Given the description of an element on the screen output the (x, y) to click on. 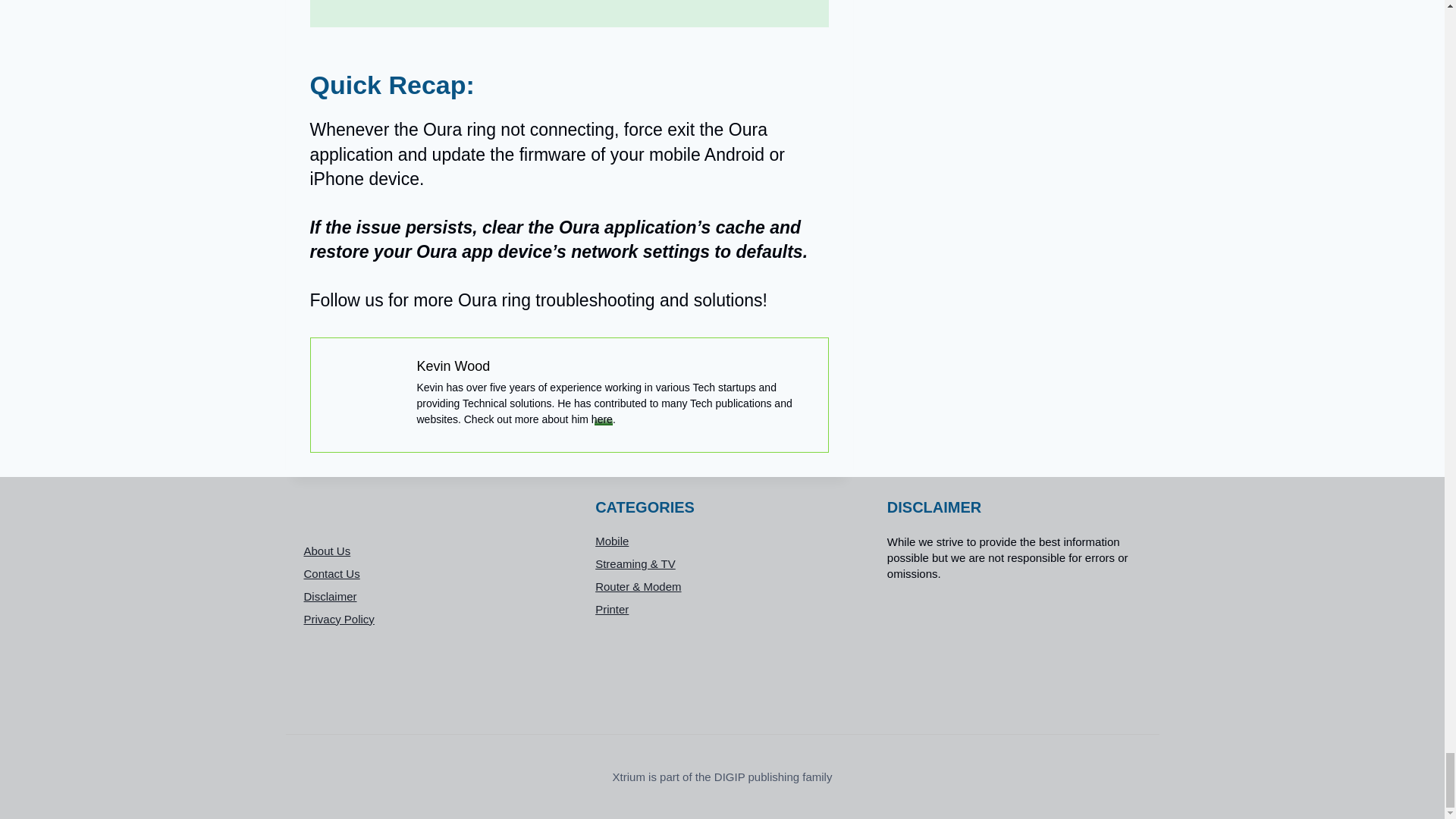
Mobile (721, 540)
Disclaimer (429, 595)
About Us (429, 549)
Privacy Policy (429, 618)
Kevin Wood (453, 365)
Printer (721, 609)
here (601, 419)
Contact Us (429, 572)
